Given the description of an element on the screen output the (x, y) to click on. 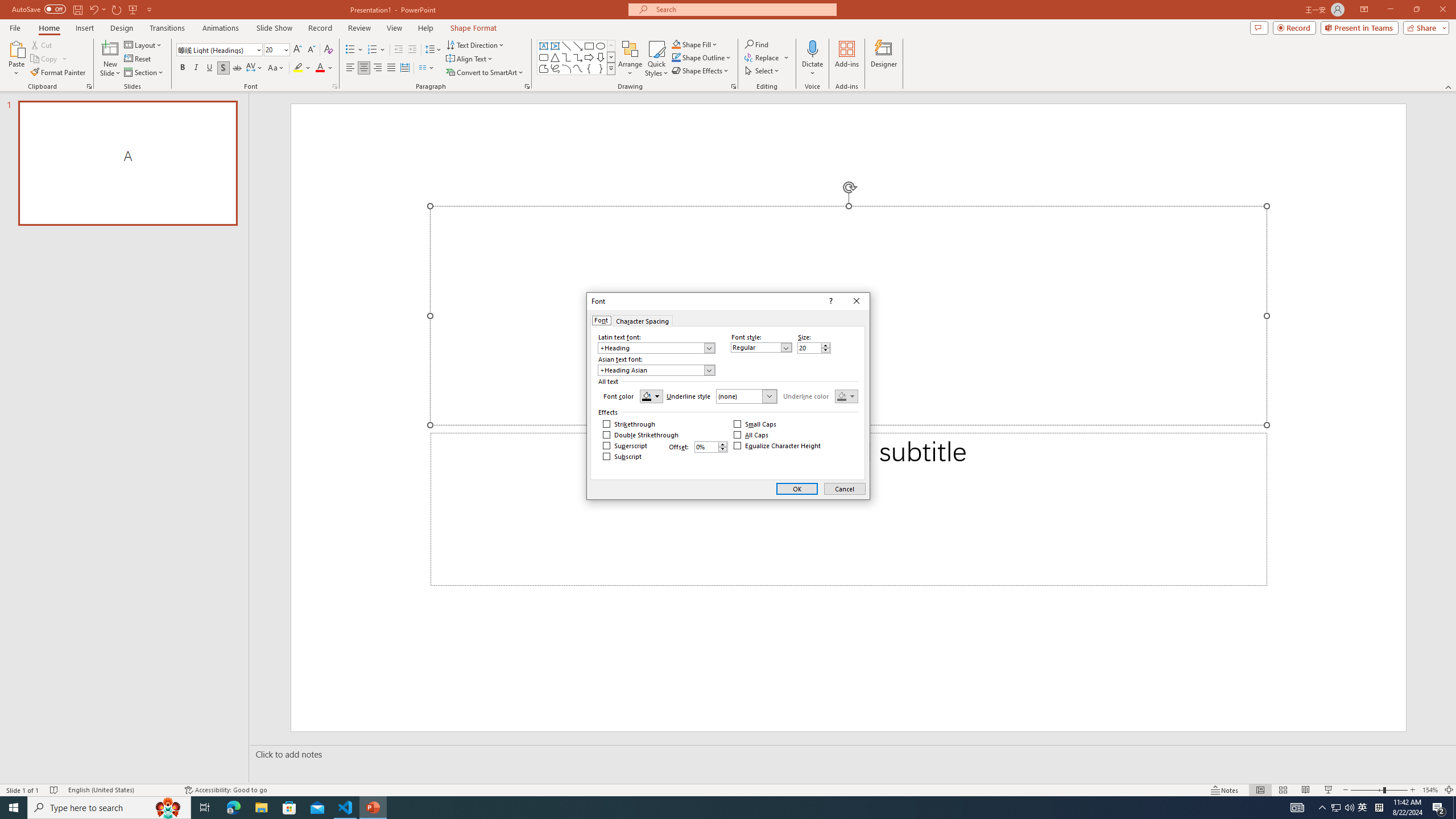
Underline color (846, 396)
Font style (761, 347)
Zoom 154% (1430, 790)
All Caps (751, 434)
